Given the description of an element on the screen output the (x, y) to click on. 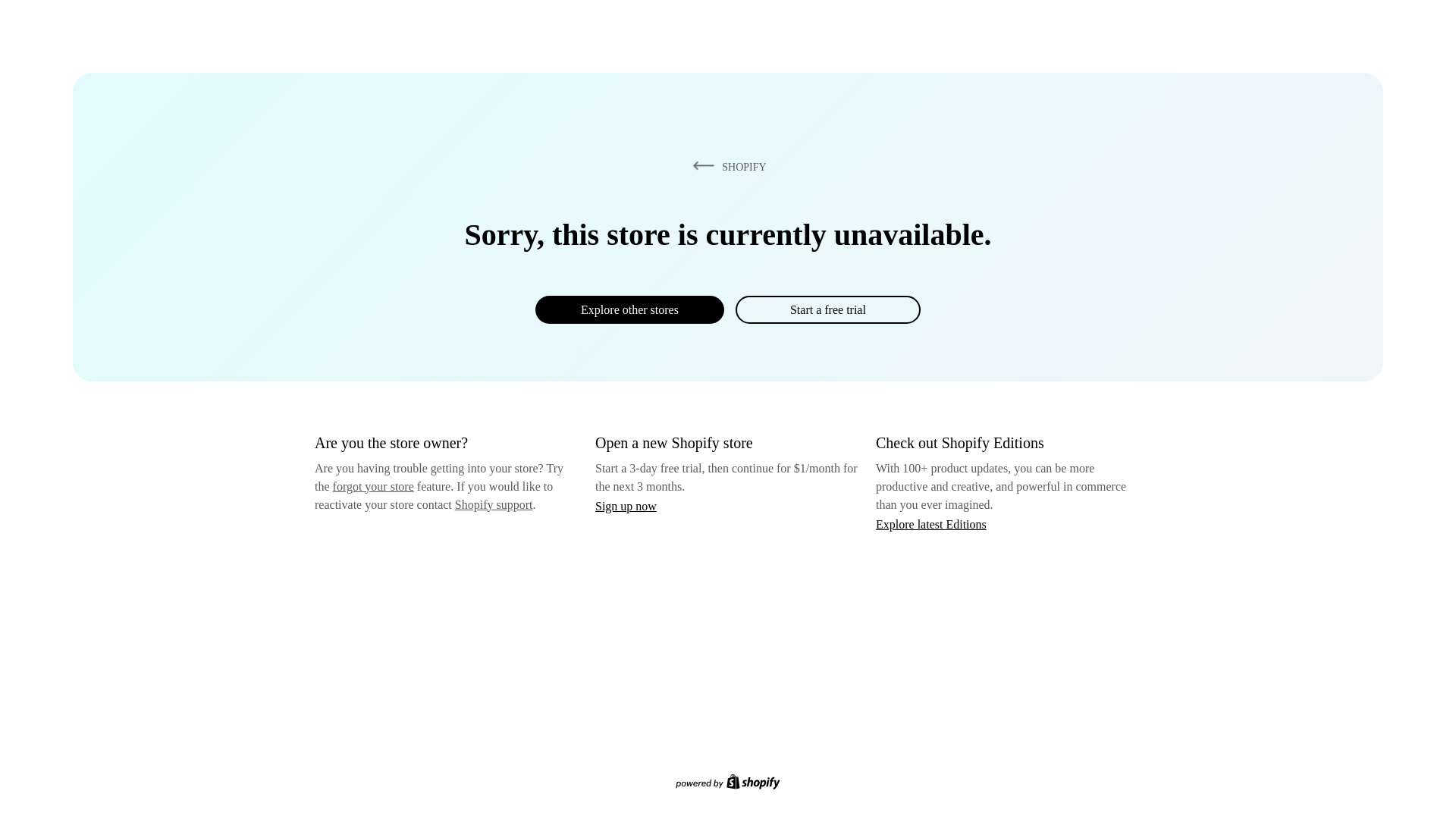
Shopify support (493, 504)
Explore latest Editions (931, 523)
SHOPIFY (726, 166)
Explore other stores (629, 309)
Sign up now (625, 505)
forgot your store (373, 486)
Start a free trial (827, 309)
